Given the description of an element on the screen output the (x, y) to click on. 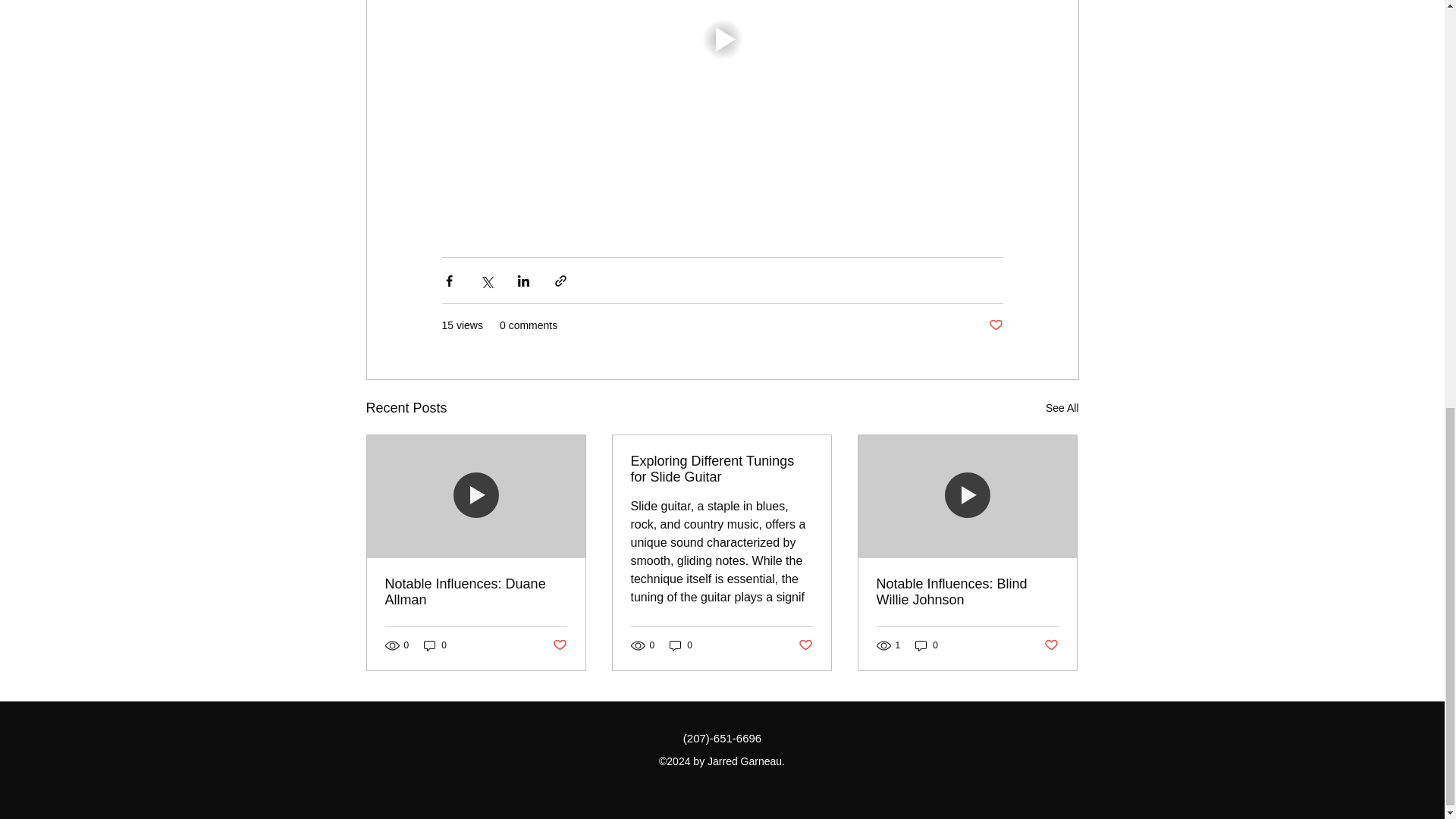
Post not marked as liked (804, 645)
Exploring Different Tunings for Slide Guitar (721, 469)
Post not marked as liked (1050, 645)
See All (1061, 408)
0 (681, 645)
Post not marked as liked (995, 325)
Post not marked as liked (558, 645)
0 (435, 645)
Notable Influences: Blind Willie Johnson (967, 592)
0 (926, 645)
